Given the description of an element on the screen output the (x, y) to click on. 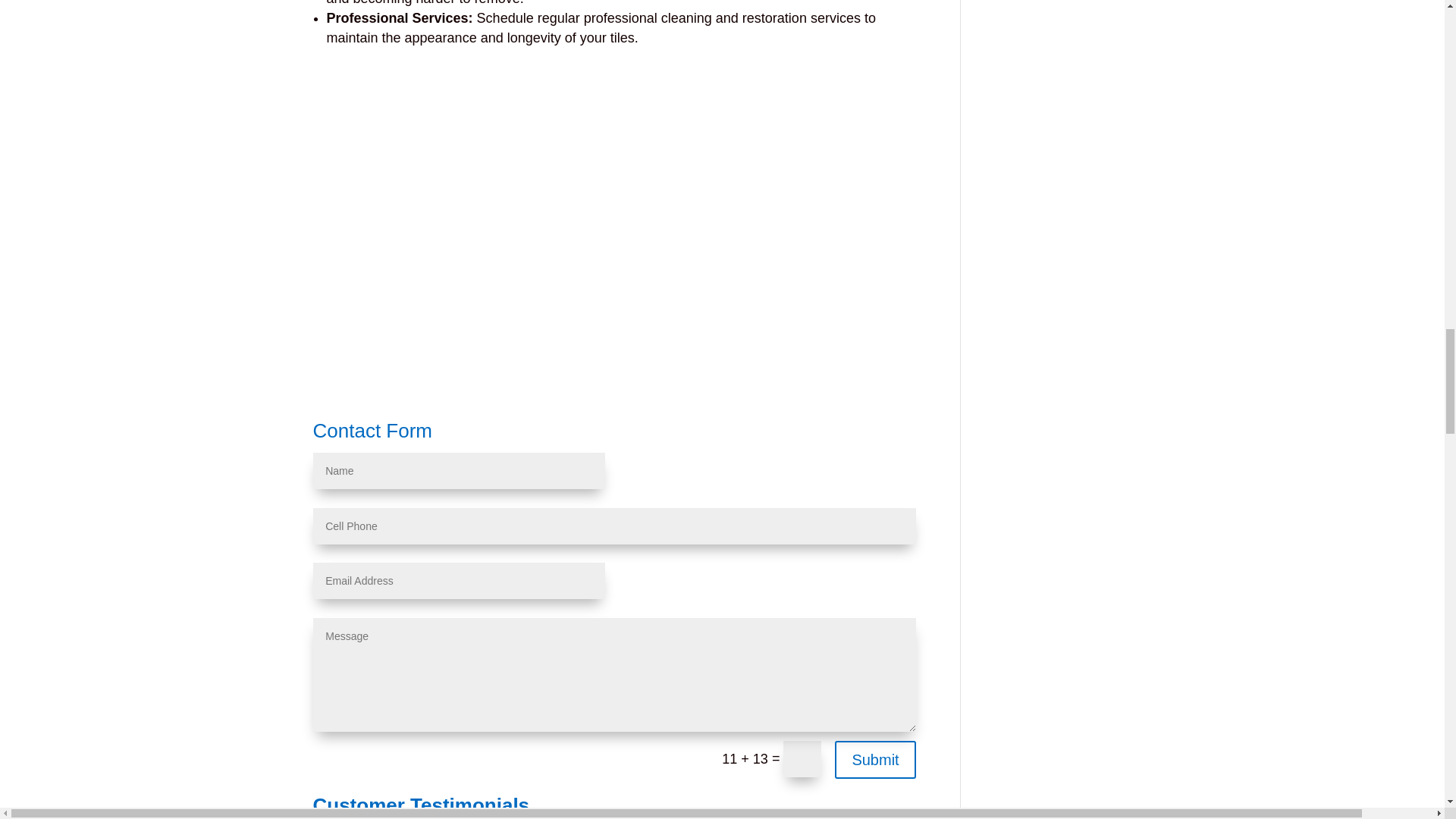
Submit (874, 759)
Maximum length: 13 characters. (614, 525)
